Given the description of an element on the screen output the (x, y) to click on. 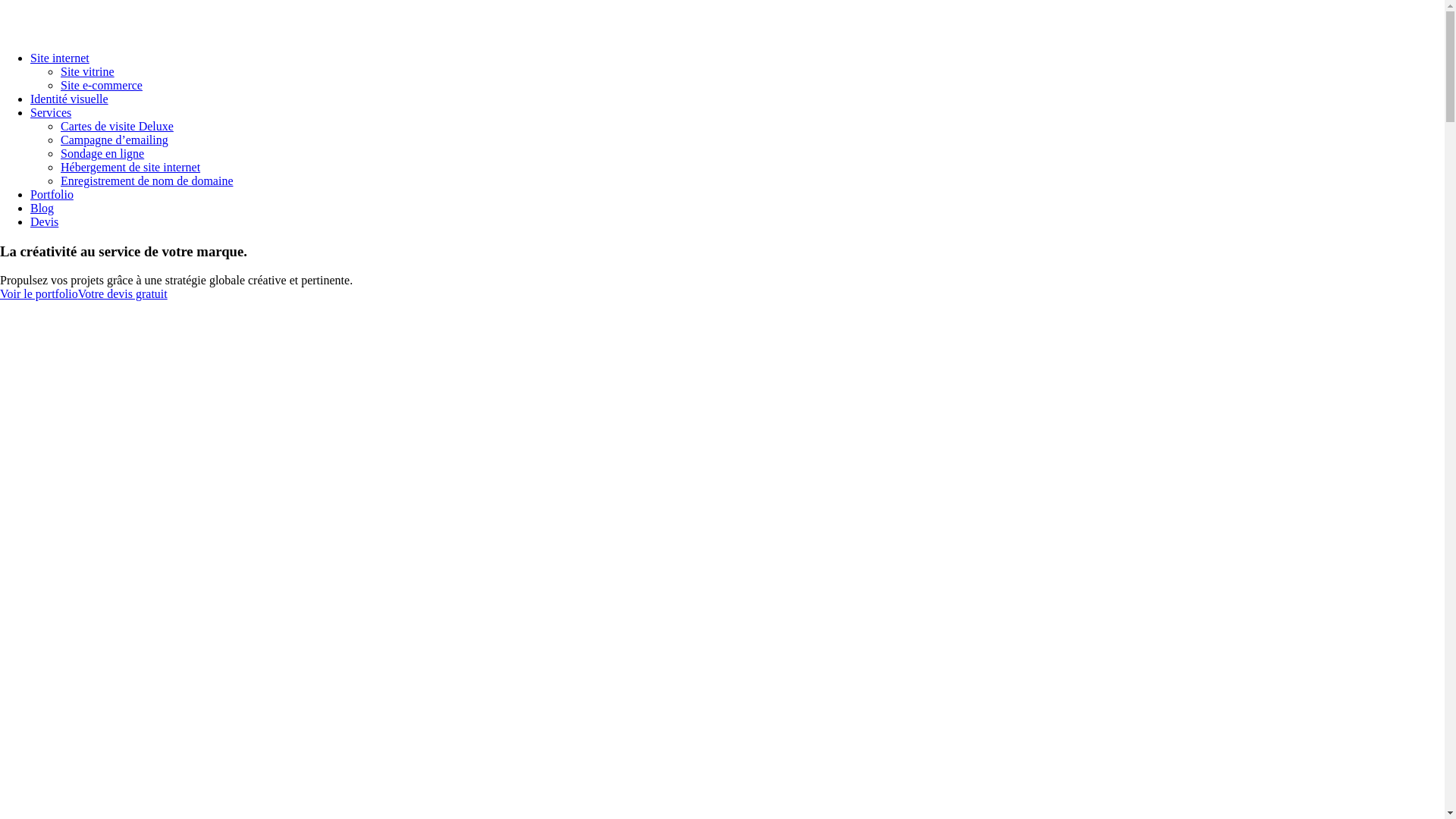
logo-white Element type: hover (132, 18)
Votre devis gratuit Element type: text (122, 293)
Devis Element type: text (44, 221)
Site vitrine Element type: text (87, 71)
Site e-commerce Element type: text (101, 84)
Blog Element type: text (41, 207)
Cartes de visite Deluxe Element type: text (116, 125)
Services Element type: text (50, 112)
Enregistrement de nom de domaine Element type: text (146, 180)
Voir le portfolio Element type: text (39, 293)
Portfolio Element type: text (51, 194)
Sondage en ligne Element type: text (102, 153)
Site internet Element type: text (59, 57)
